Given the description of an element on the screen output the (x, y) to click on. 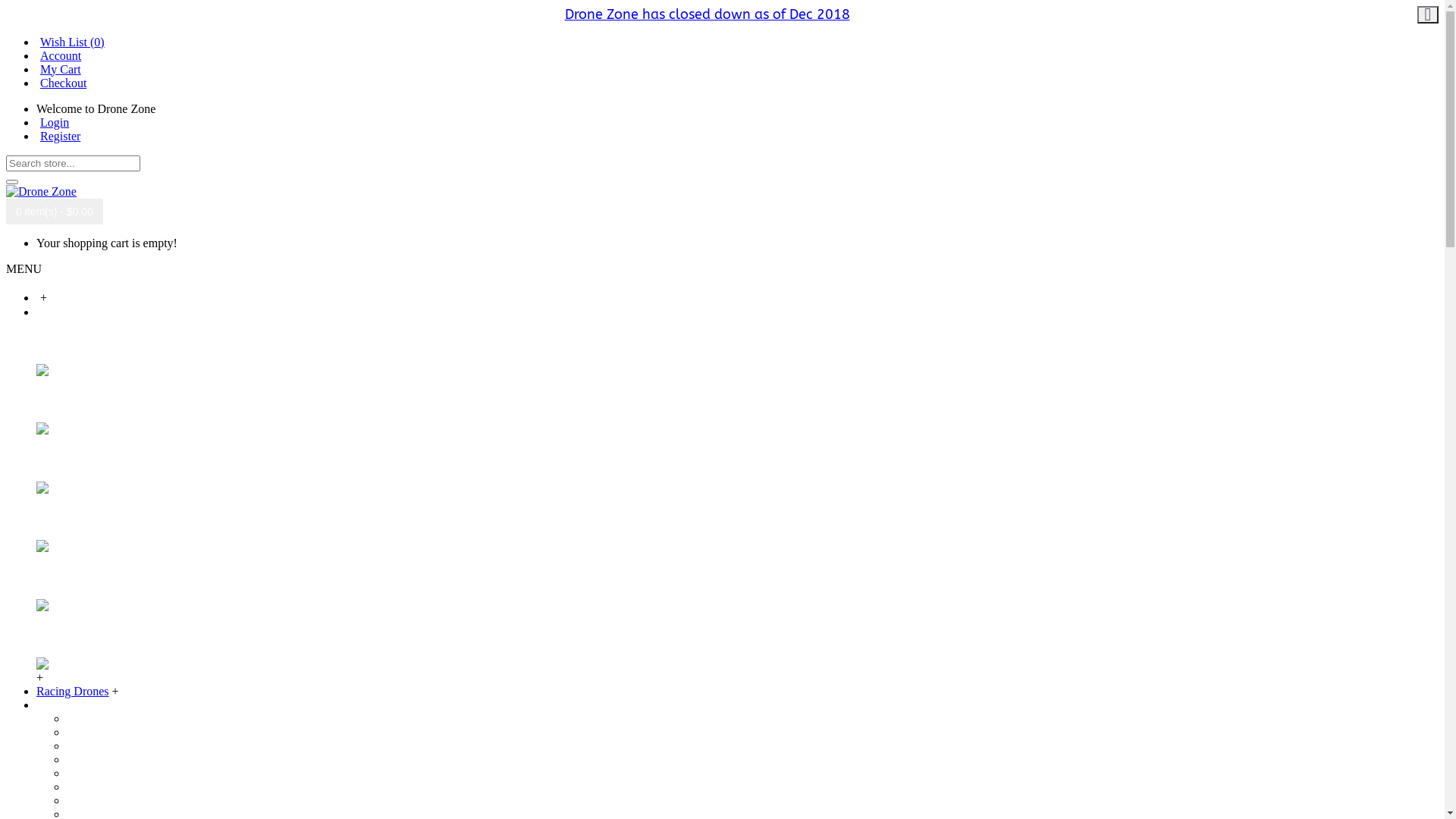
DJI Drones Element type: text (63, 310)
DJI Inspire 1 Element type: text (98, 772)
My Cart Element type: text (58, 68)
Phantom 4 Element type: text (69, 517)
0 item(s) - $0.00 Element type: text (54, 211)
DJI Spark Element type: text (90, 718)
Drone Zone Element type: hover (41, 191)
DJI Phantom 3 Element type: text (102, 745)
0 item(s) - $0.00 Element type: text (54, 210)
Account Element type: text (58, 54)
Inspire 1 Element type: text (63, 575)
Accessories Element type: text (65, 704)
Checkout Element type: text (61, 81)
Phantom 3 Element type: text (69, 458)
Drone Zone has closed down as of Dec 2018 Element type: text (706, 14)
Spark Element type: text (54, 340)
DJI Mavic Pro Element type: text (102, 731)
DJI Goggles Element type: text (96, 799)
DJI Phantom 4 Element type: text (102, 759)
Login Element type: text (52, 121)
Racing Drones Element type: text (72, 690)
Register Element type: text (58, 134)
DJI Inspire 2 Element type: text (98, 786)
Inspire 2 Element type: text (63, 634)
Wish List (0) Element type: text (70, 40)
Mavic Pro Element type: text (67, 399)
